Given the description of an element on the screen output the (x, y) to click on. 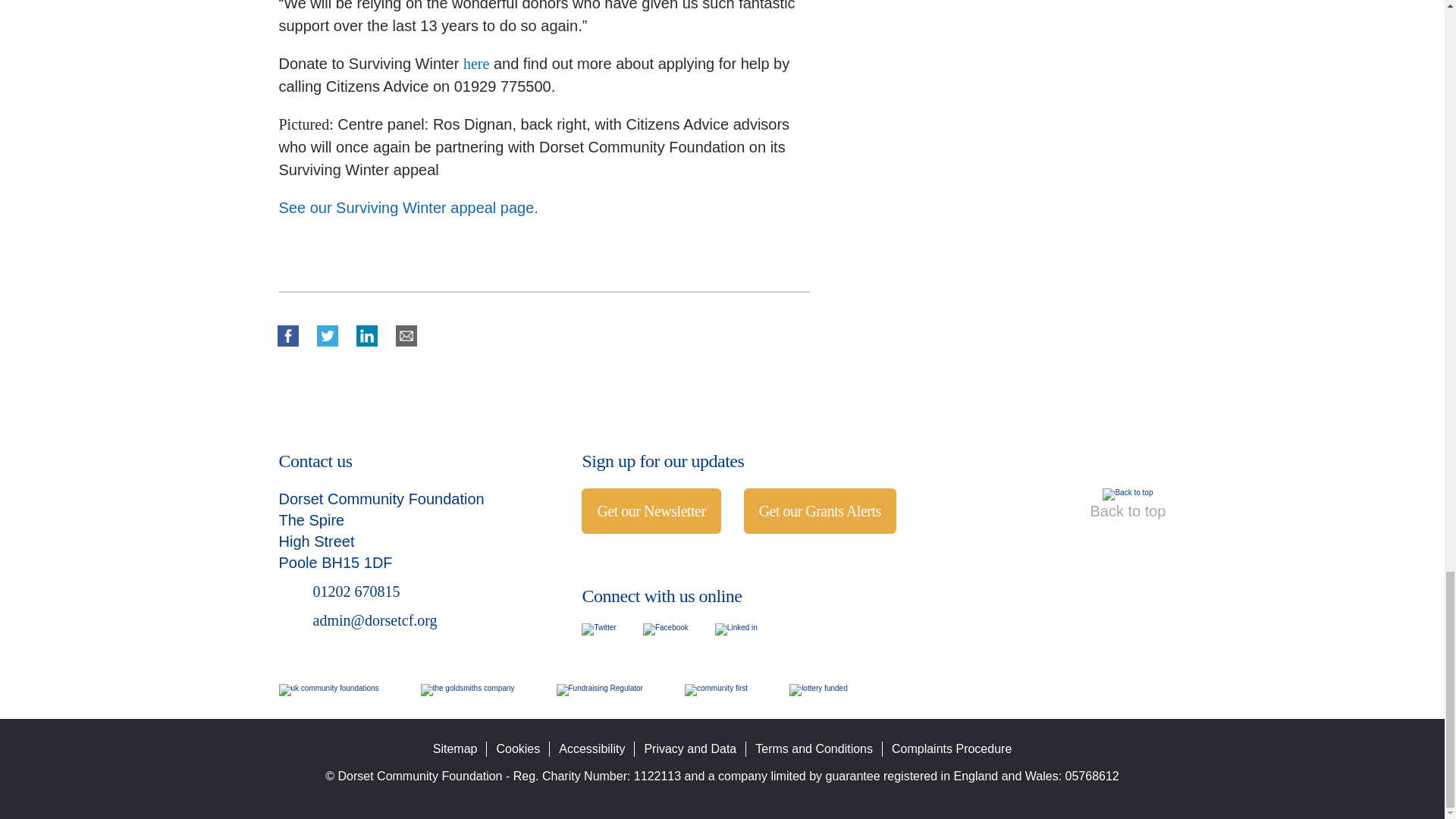
LinkedIn (366, 335)
Email (405, 335)
Twitter (597, 629)
Back to top (1127, 494)
Facebook (287, 335)
Facebook (665, 629)
Linked in (735, 629)
Twitter (326, 335)
